Given the description of an element on the screen output the (x, y) to click on. 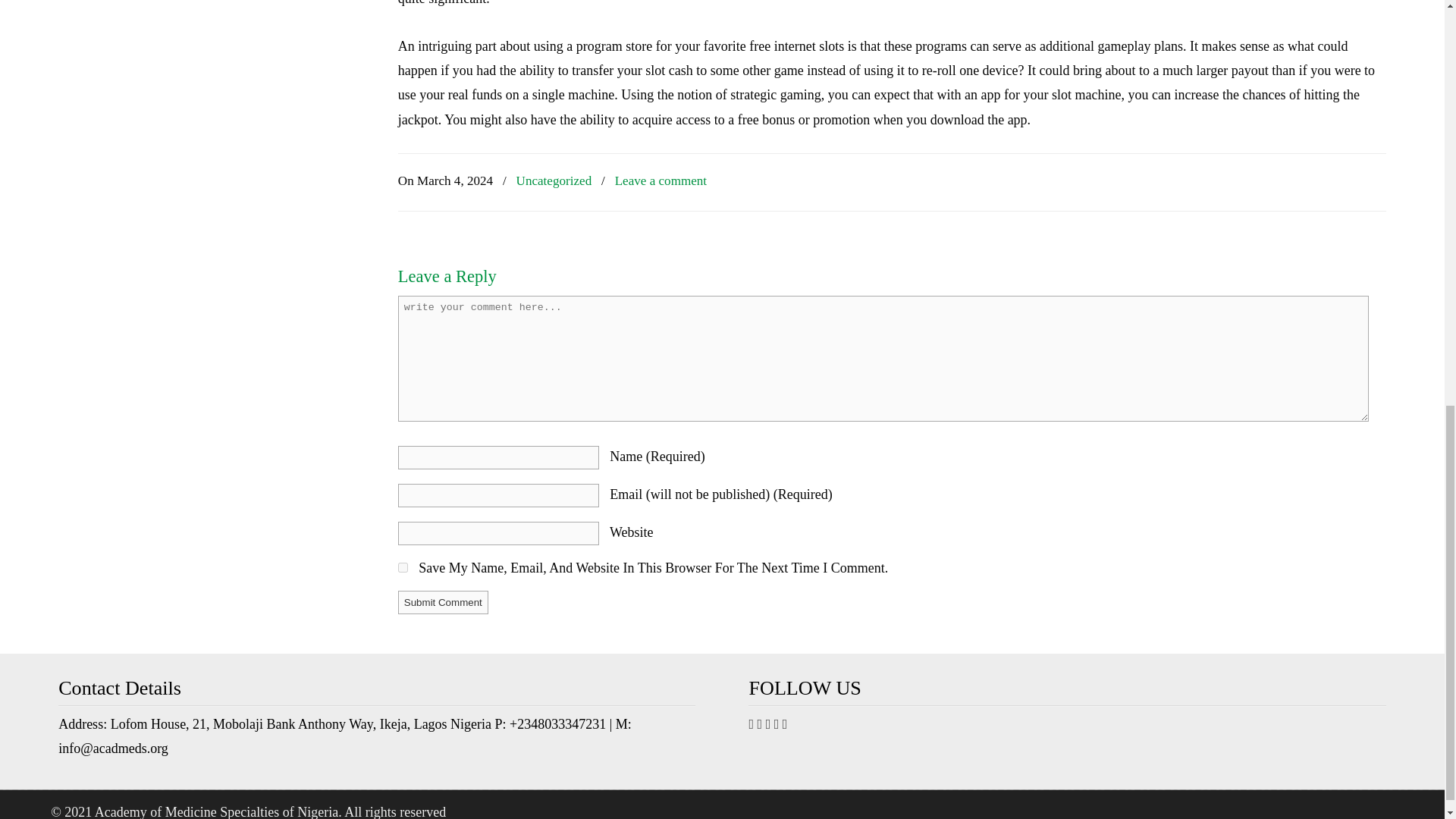
Submit Comment (442, 602)
Submit Comment (442, 602)
Uncategorized (554, 181)
Leave a comment (660, 181)
yes (402, 567)
